Given the description of an element on the screen output the (x, y) to click on. 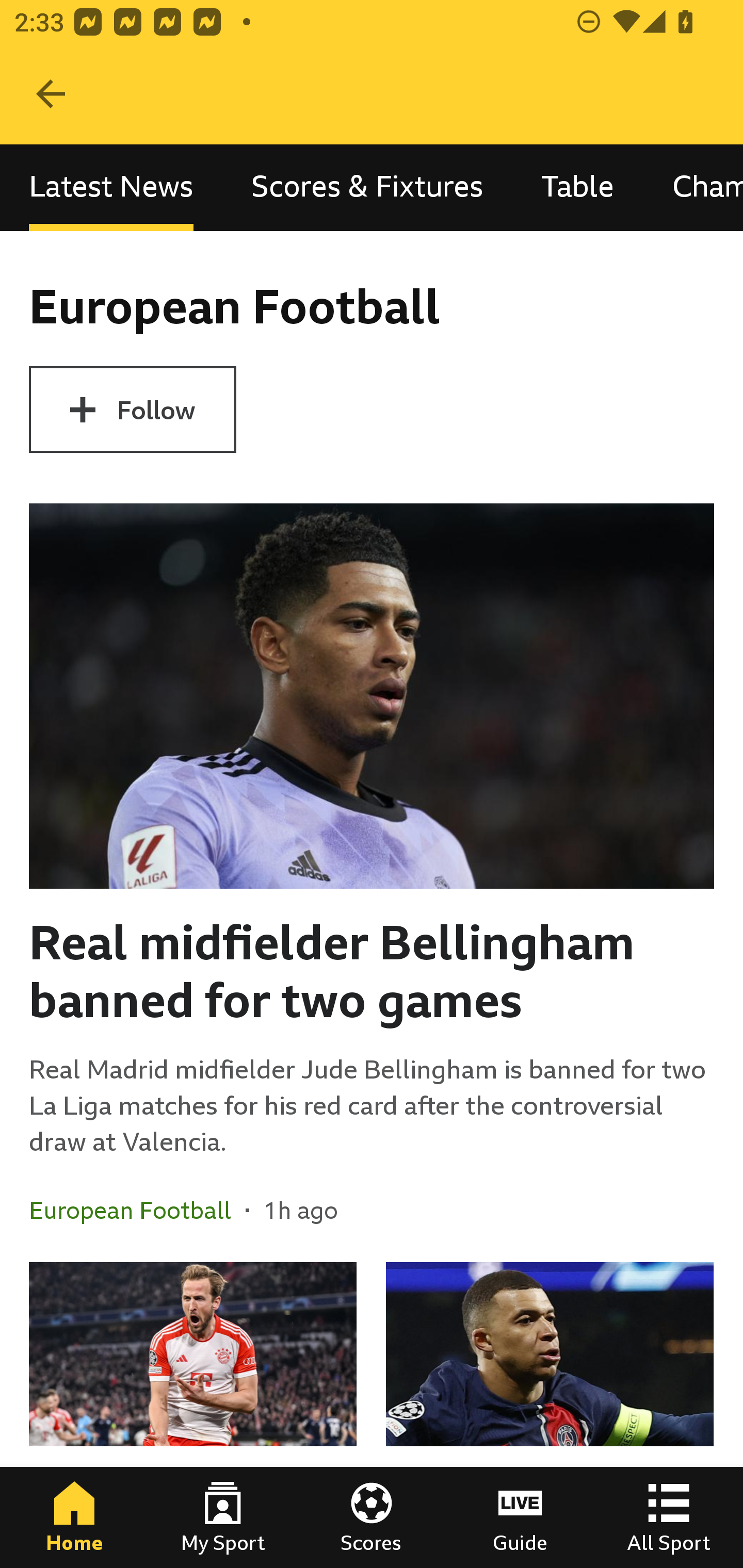
Navigate up (50, 93)
Latest News, selected Latest News (111, 187)
Scores & Fixtures (367, 187)
Table (577, 187)
Follow European Football Follow (132, 409)
Kane scores two as stylish Bayern beat Lazio (192, 1415)
Mbappe has 'no problems' with manager Enrique (549, 1415)
My Sport (222, 1517)
Scores (371, 1517)
Guide (519, 1517)
All Sport (668, 1517)
